Given the description of an element on the screen output the (x, y) to click on. 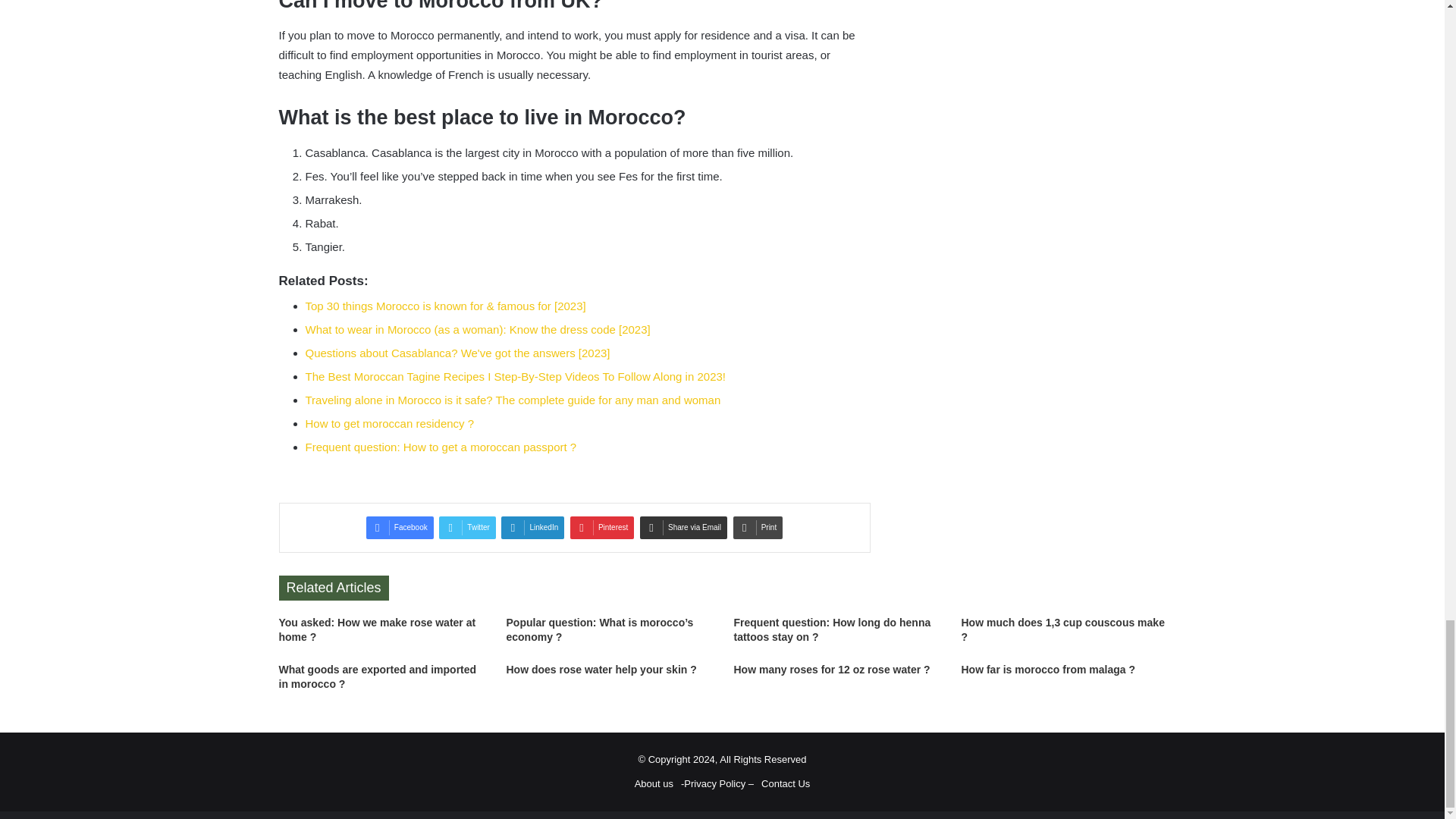
How to get moroccan residency ? (389, 422)
Frequent question: How to get a moroccan passport ? (440, 446)
Twitter (467, 527)
Twitter (467, 527)
LinkedIn (532, 527)
Facebook (399, 527)
Pinterest (601, 527)
Facebook (399, 527)
